Given the description of an element on the screen output the (x, y) to click on. 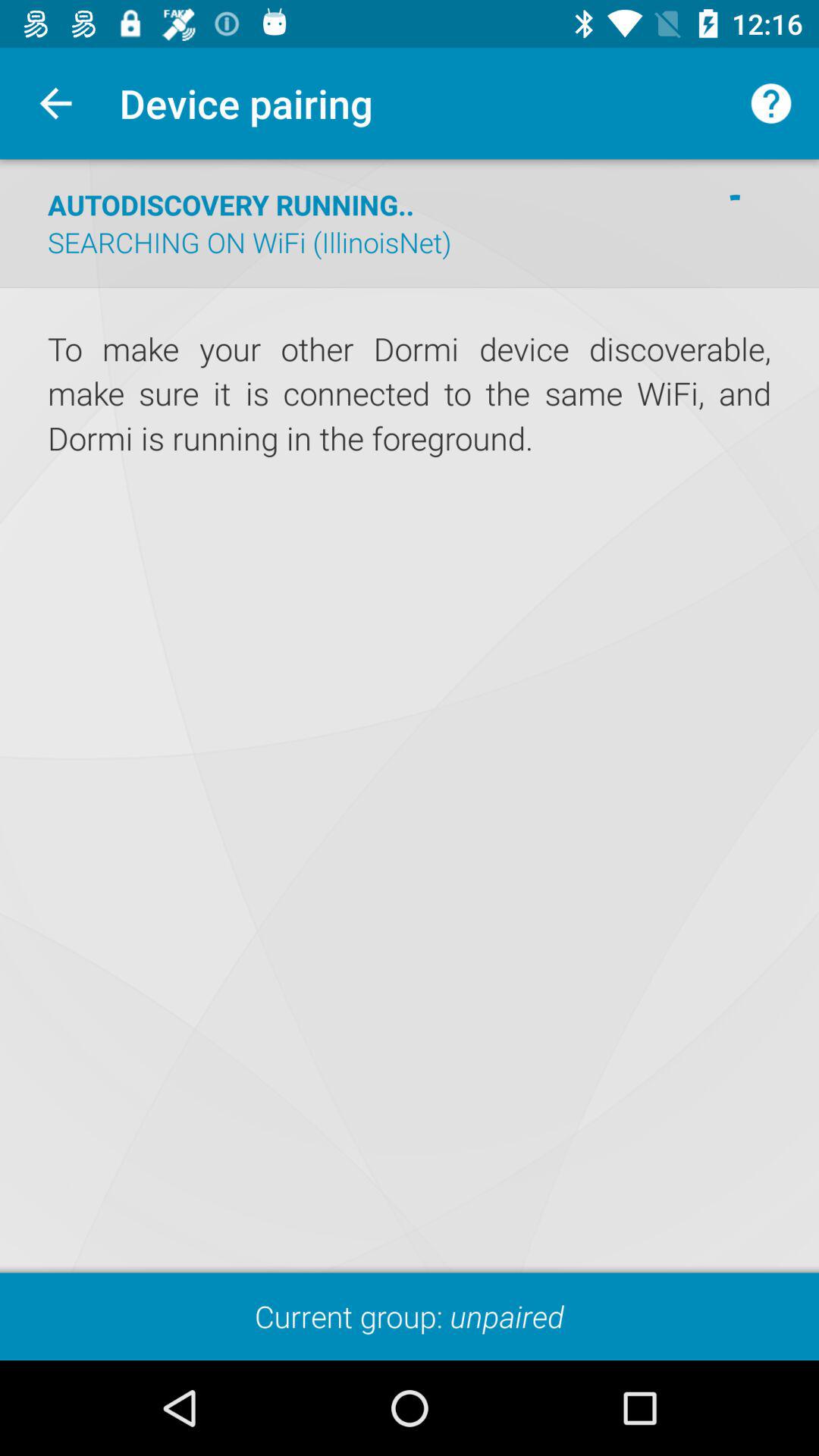
turn off app to the left of device pairing icon (55, 103)
